Given the description of an element on the screen output the (x, y) to click on. 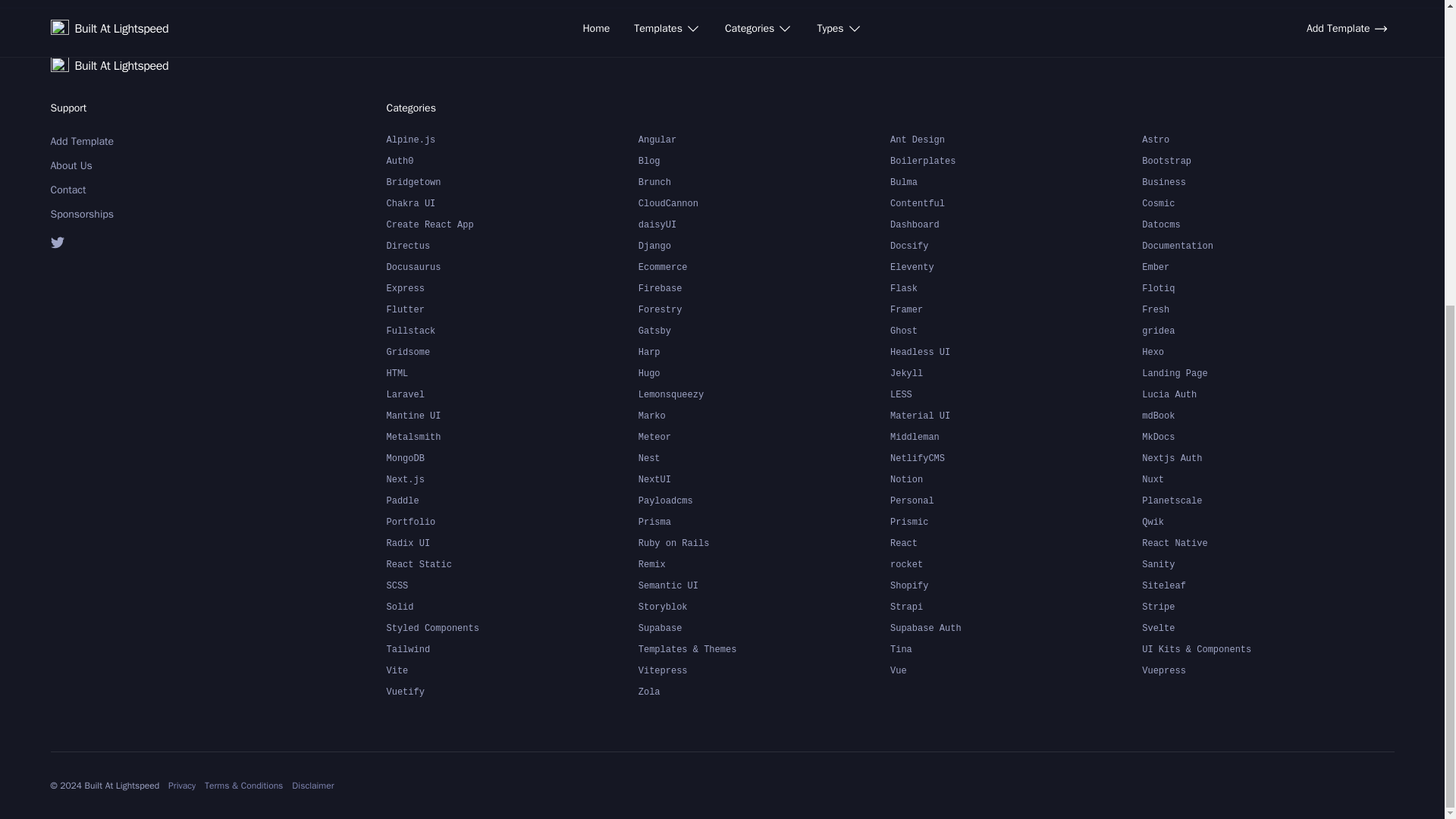
Dashboard (1015, 224)
Cosmic (1267, 203)
Documentation (1267, 246)
Bridgetown (513, 182)
Django (764, 246)
Add Template (127, 141)
Contentful (1015, 203)
twitter (127, 242)
Boilerplates (1015, 160)
Ant Design (1015, 139)
Bootstrap (1267, 160)
CloudCannon (764, 203)
Chakra UI (513, 203)
Auth0 (513, 160)
Directus (513, 246)
